Given the description of an element on the screen output the (x, y) to click on. 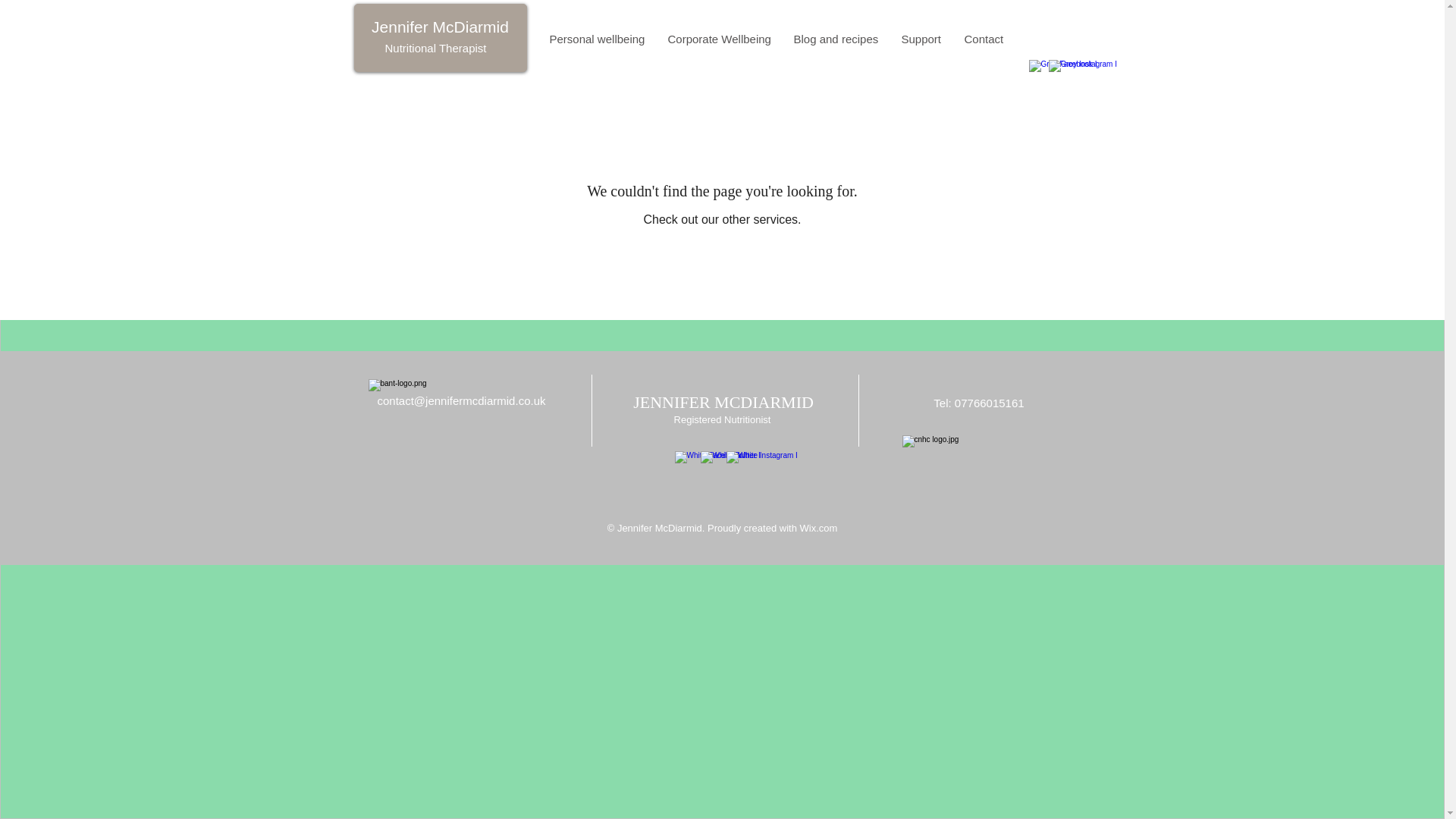
Wix.com (818, 527)
Nutritional Therapist (435, 47)
Blog and recipes (836, 38)
Jennifer McDiarmid (439, 27)
Corporate Wellbeing (719, 38)
Support (921, 38)
Personal wellbeing (597, 38)
Contact (983, 38)
JENNIFER MCDIARMID (723, 402)
Registered Nutritionist (722, 419)
